Given the description of an element on the screen output the (x, y) to click on. 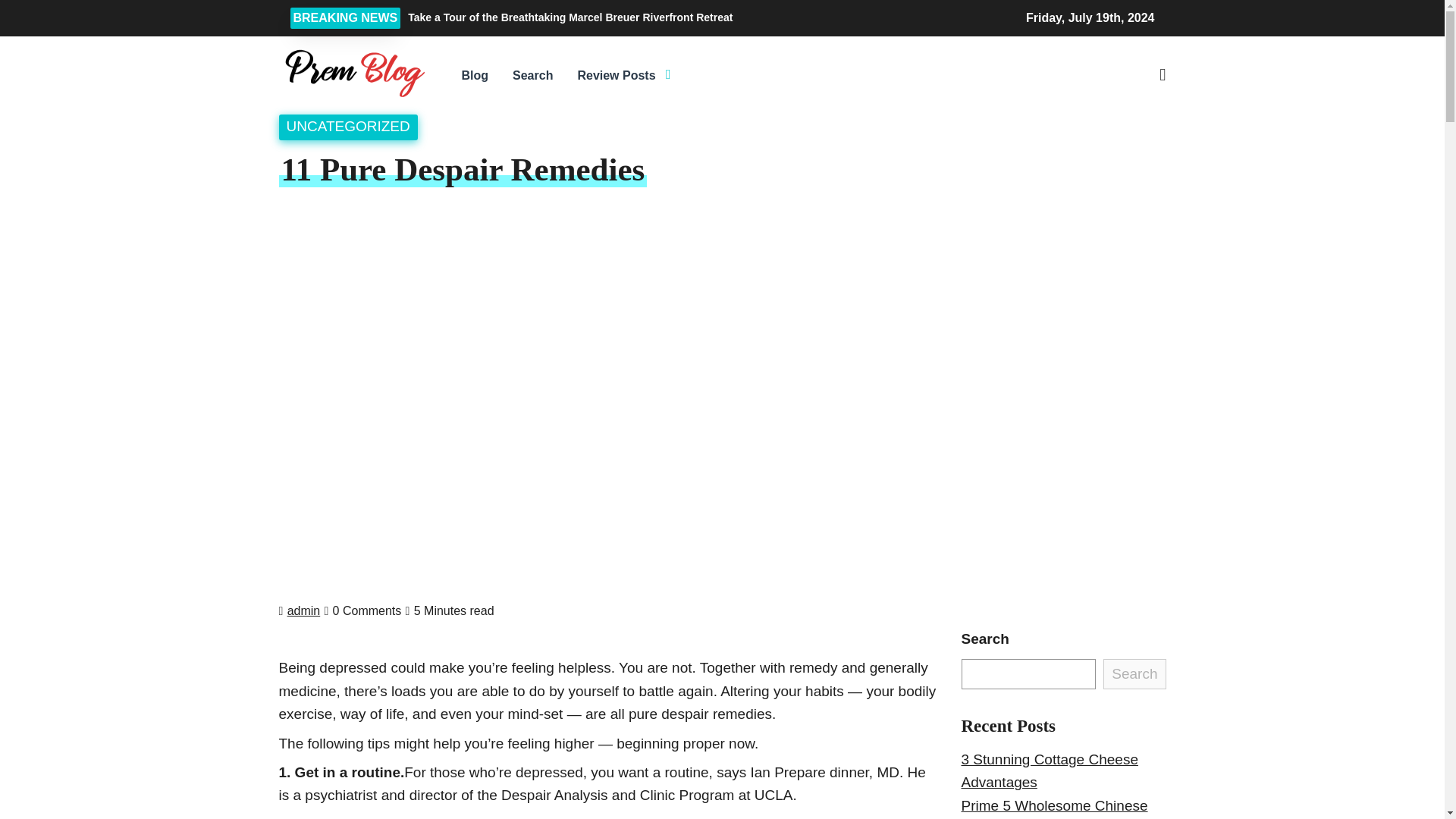
Search (532, 75)
3 Stunning Cottage Cheese Advantages (1049, 770)
Search (1134, 674)
admin (303, 610)
UNCATEGORIZED (348, 125)
Blog (474, 75)
Search (1045, 156)
Review Posts (615, 75)
